Given the description of an element on the screen output the (x, y) to click on. 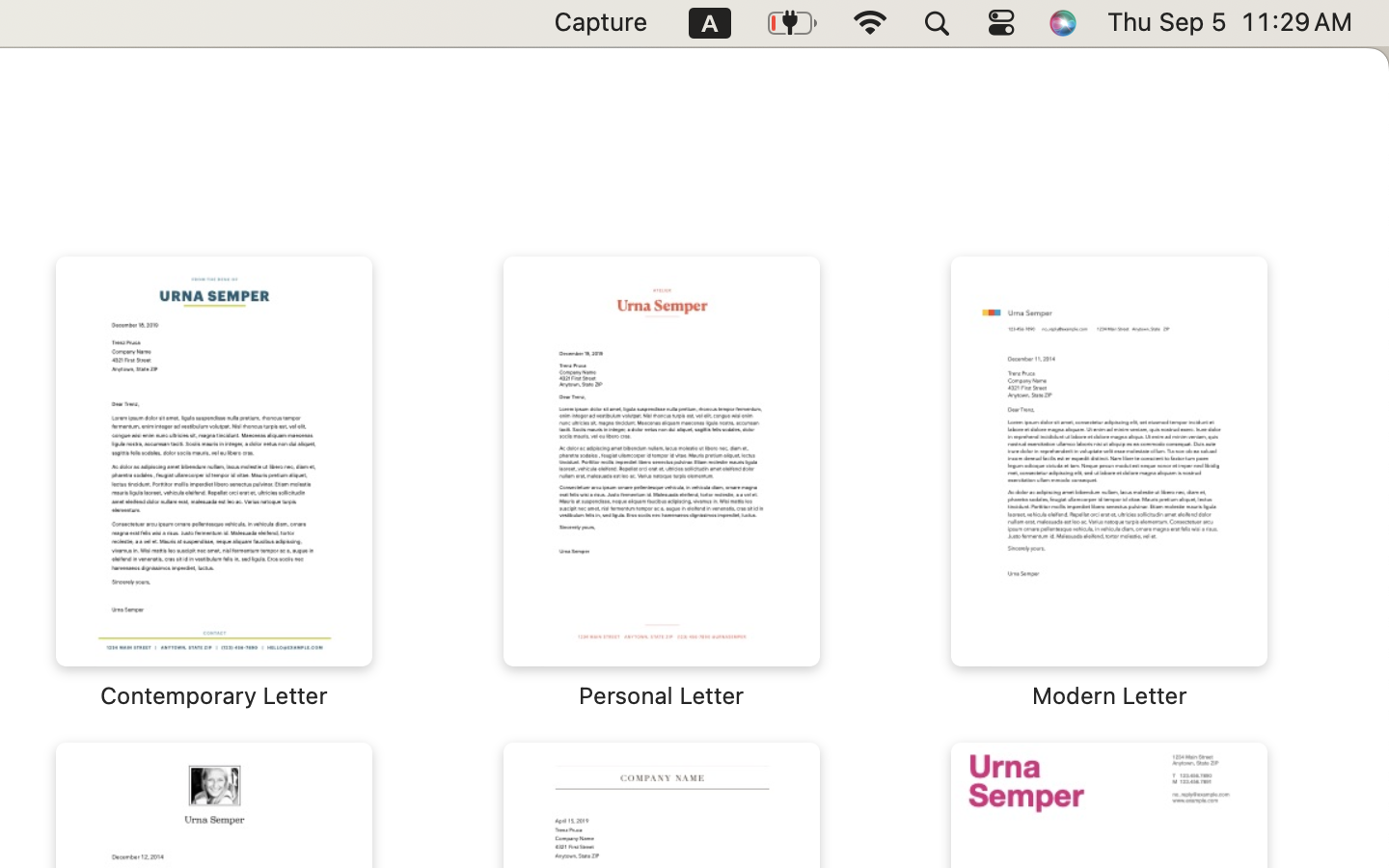
‎⁨Modern Letter⁩ Element type: AXButton (1109, 483)
‎⁨Personal Letter⁩ Element type: AXButton (661, 483)
